Given the description of an element on the screen output the (x, y) to click on. 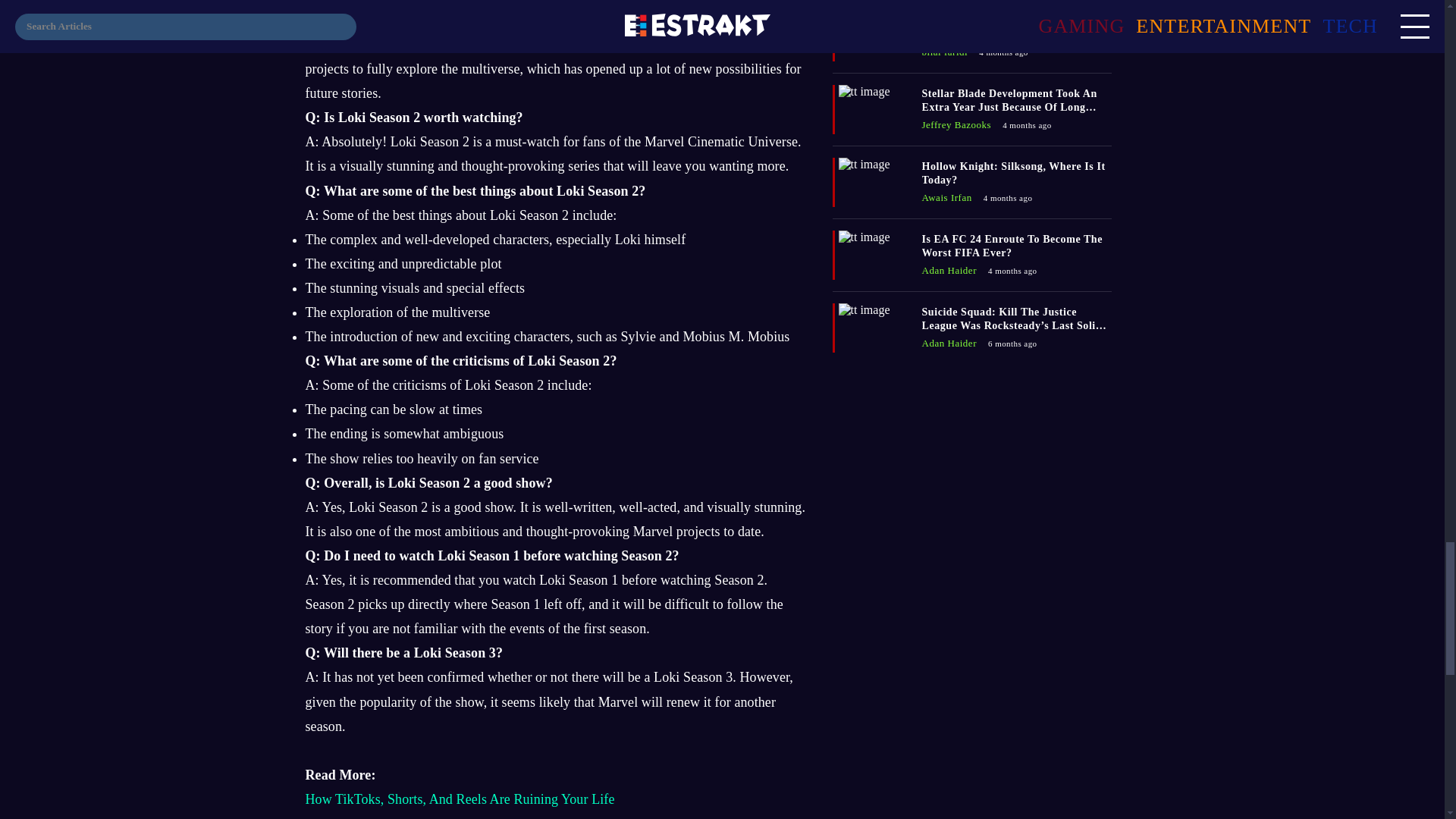
How TikToks, Shorts, And Reels Are Ruining Your Life (459, 798)
